Given the description of an element on the screen output the (x, y) to click on. 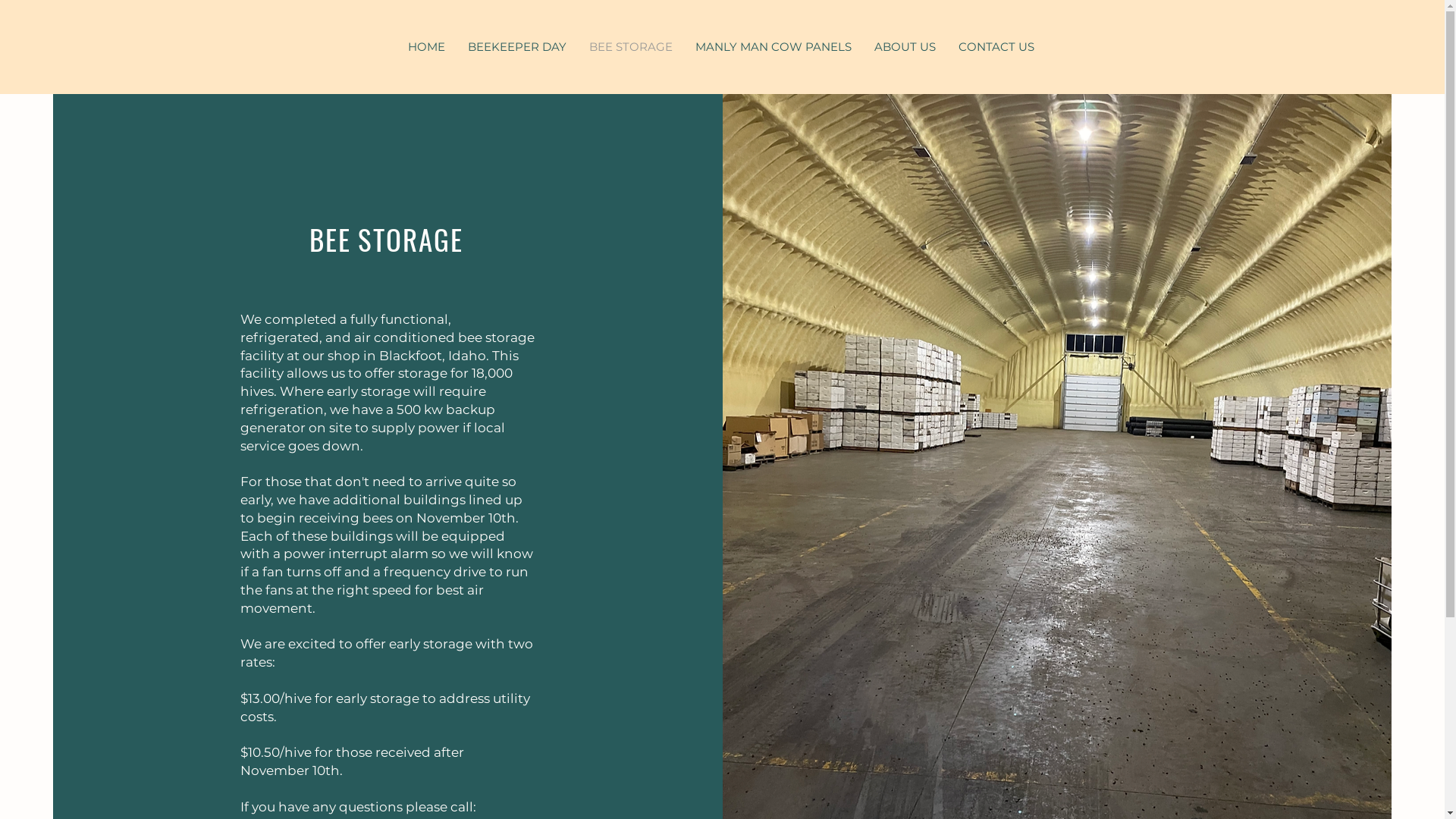
MANLY MAN COW PANELS Element type: text (773, 46)
BEEKEEPER DAY Element type: text (516, 46)
CONTACT US Element type: text (995, 46)
BEE STORAGE Element type: text (630, 46)
HOME Element type: text (425, 46)
ABOUT US Element type: text (904, 46)
